Given the description of an element on the screen output the (x, y) to click on. 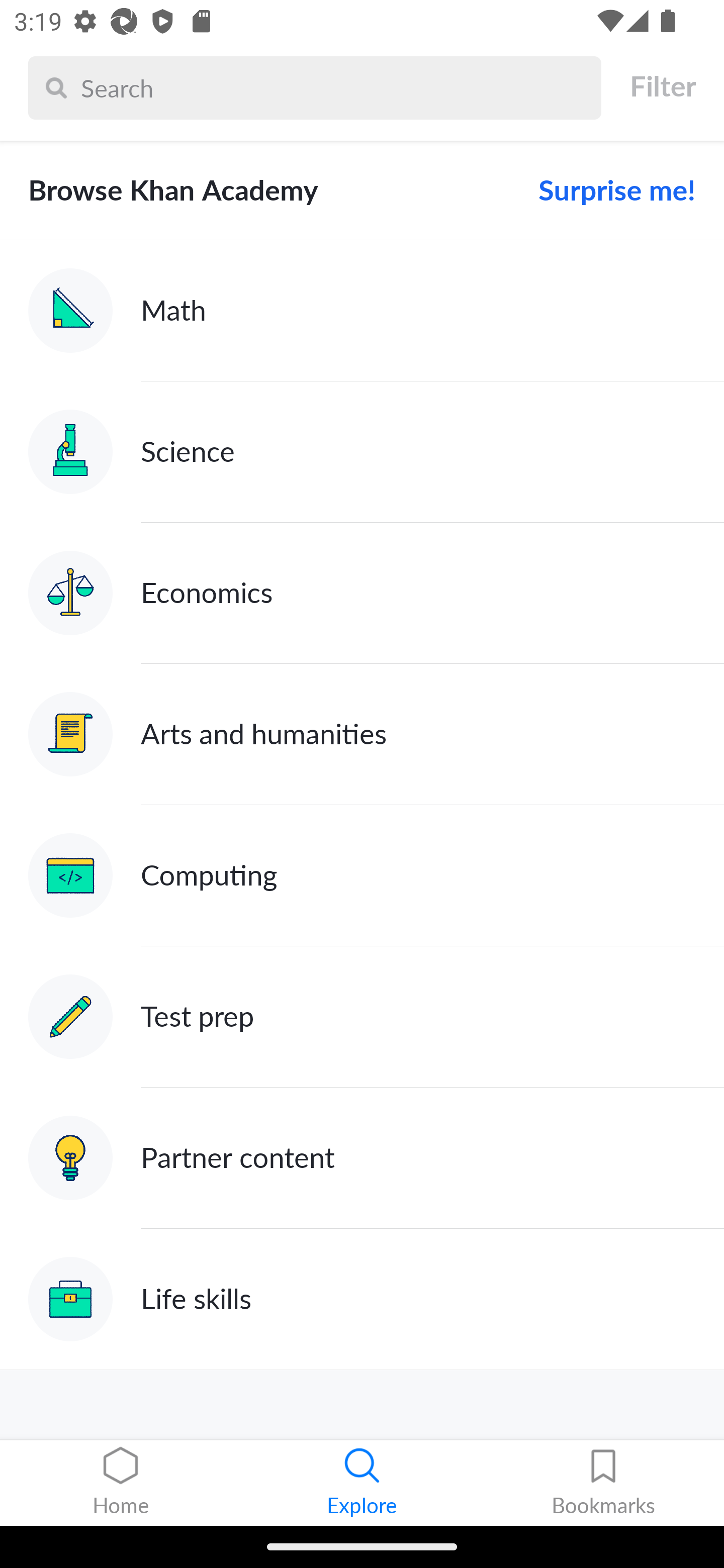
Search Search Search (314, 87)
Search (335, 87)
Filter (662, 85)
Surprise me! (609, 190)
Math (362, 310)
Science (362, 451)
Economics (362, 592)
Arts and humanities (362, 733)
Computing (362, 875)
Test prep (362, 1017)
Partner content (362, 1158)
Life skills (362, 1298)
Home (120, 1482)
Explore (361, 1482)
Bookmarks (603, 1482)
